Given the description of an element on the screen output the (x, y) to click on. 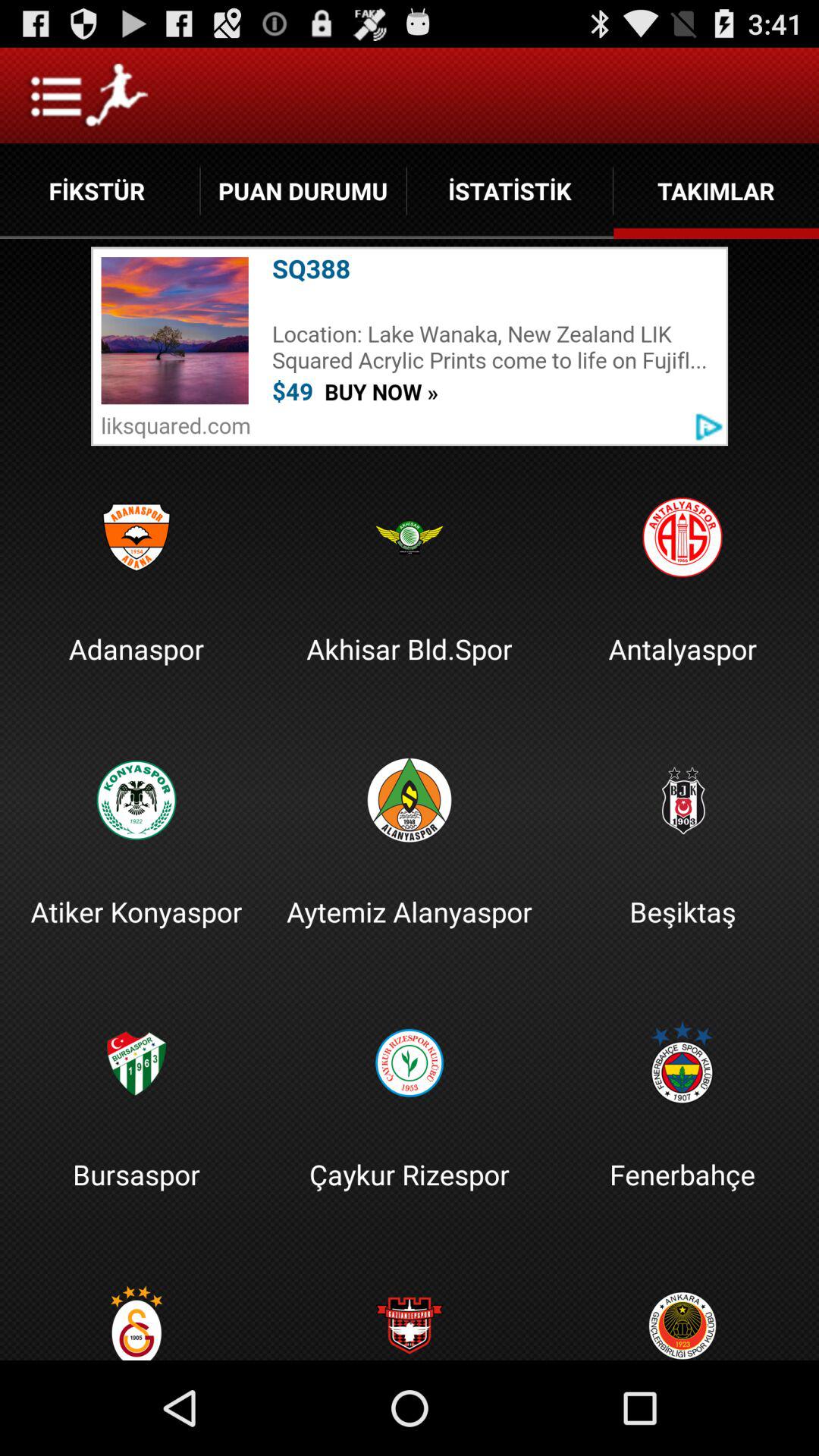
location optioni (409, 345)
